Given the description of an element on the screen output the (x, y) to click on. 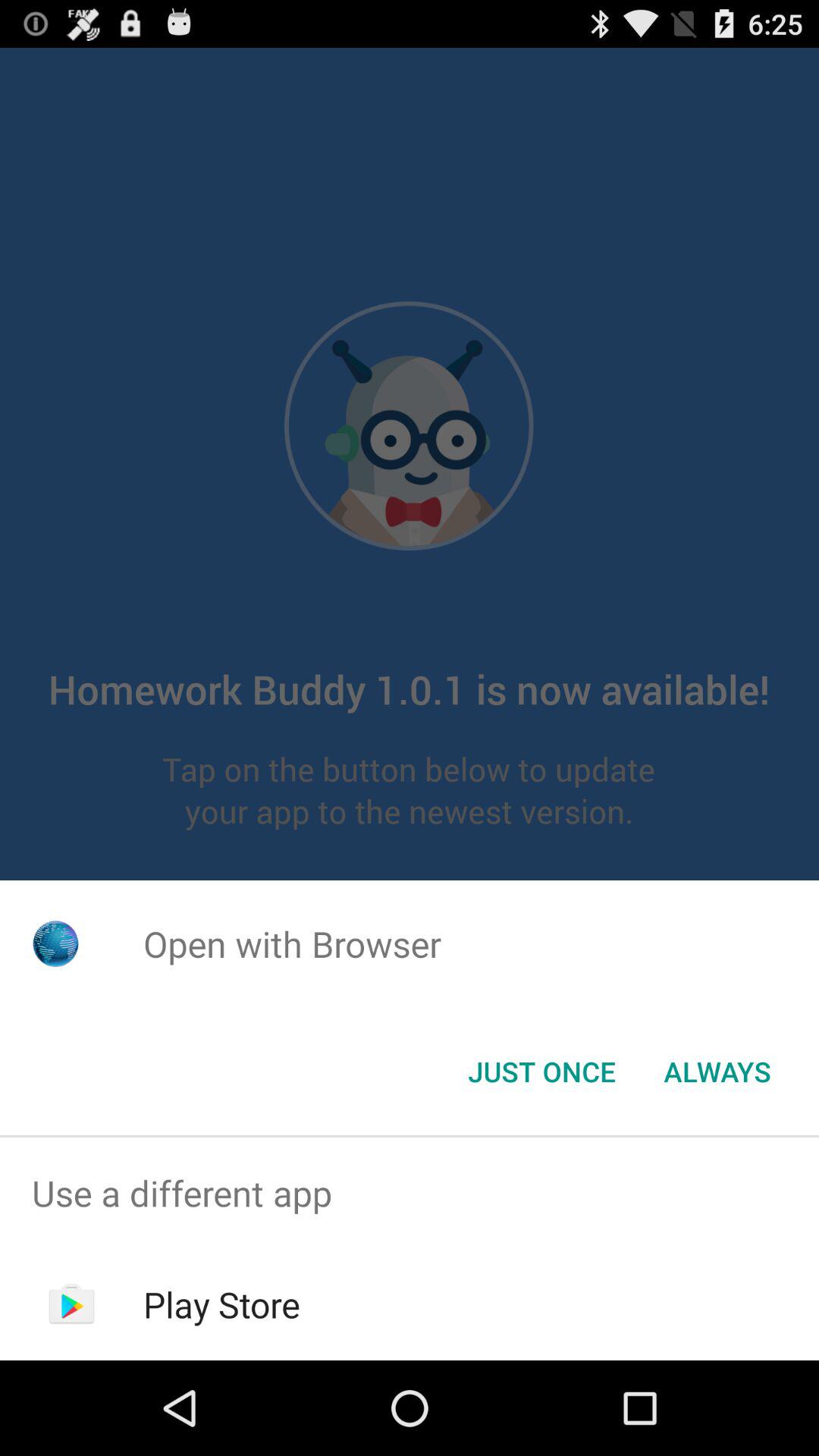
launch icon below the open with browser item (717, 1071)
